Given the description of an element on the screen output the (x, y) to click on. 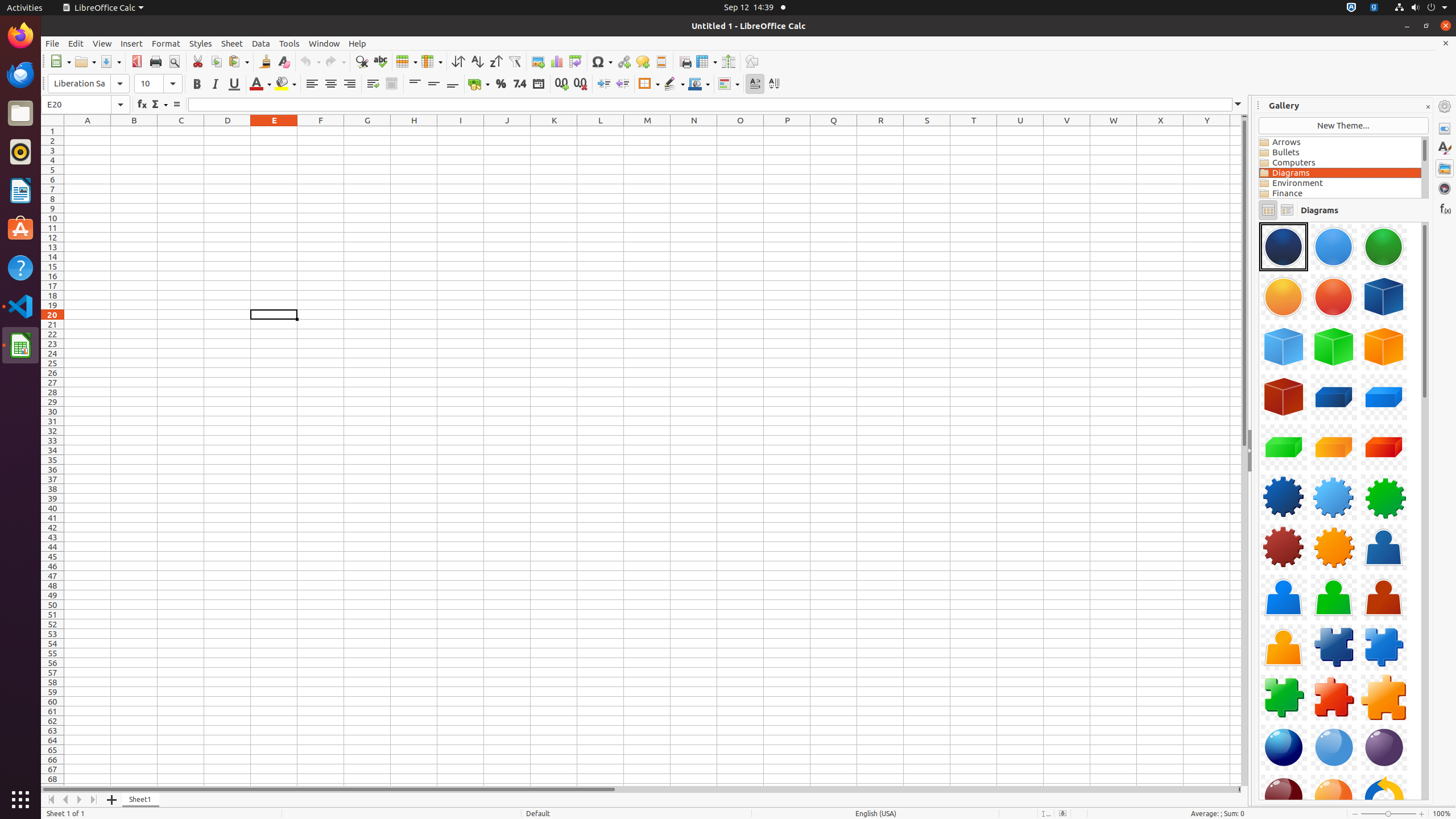
Conditional Element type: push-button (728, 83)
System Element type: menu (1420, 7)
Component-Person03-Green Element type: list-item (1333, 596)
Component-Cube01-DarkBlue Element type: list-item (1383, 296)
Component-PuzzlePiece02-Blue Element type: list-item (1383, 646)
